Given the description of an element on the screen output the (x, y) to click on. 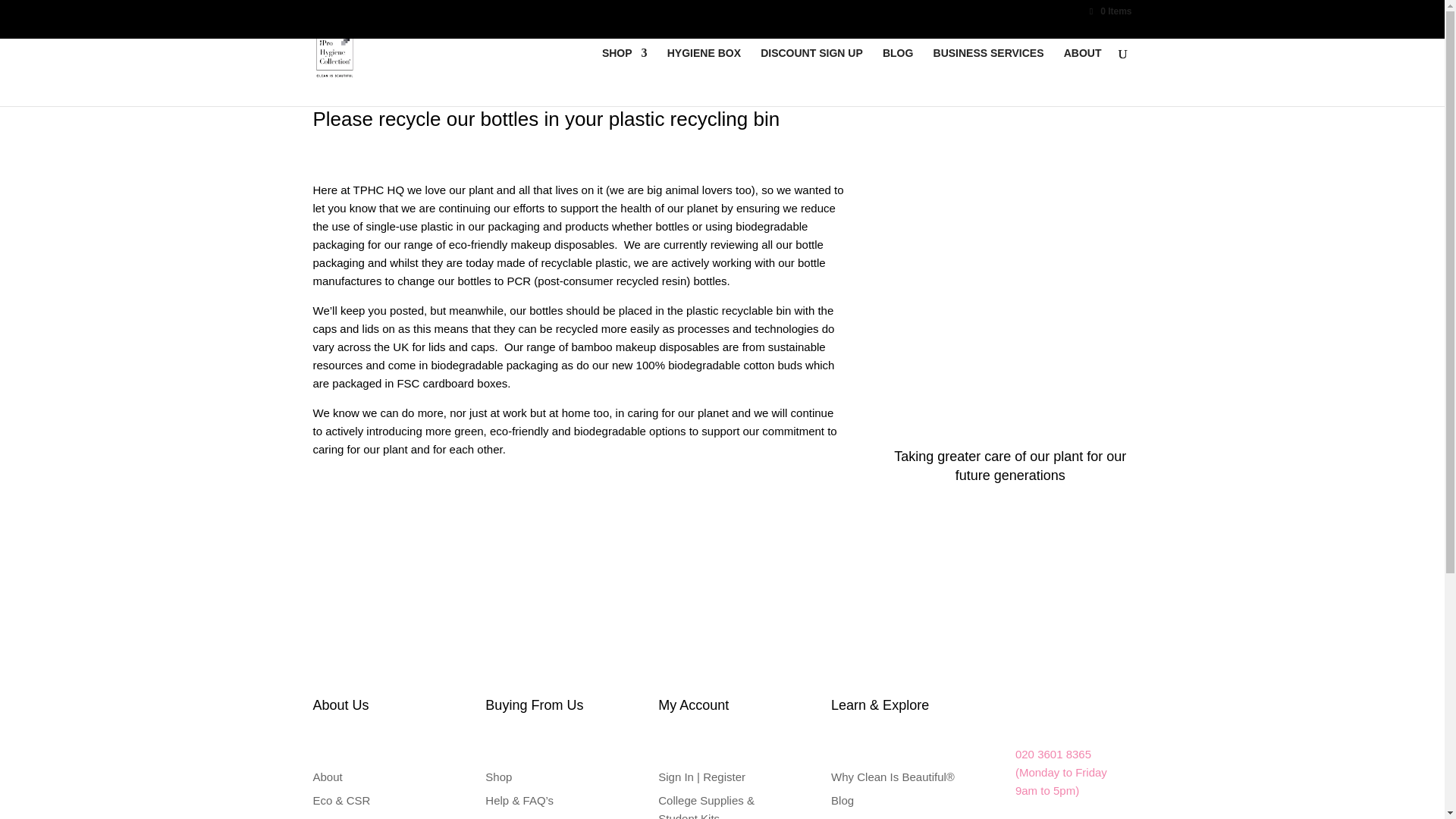
DISCOUNT SIGN UP (811, 65)
In The Press (863, 818)
Blog (842, 799)
0 Items (1108, 10)
About (327, 776)
ABOUT (1083, 65)
SHOP (624, 65)
Shop (498, 776)
BUSINESS SERVICES (988, 65)
HYGIENE BOX (703, 65)
